Given the description of an element on the screen output the (x, y) to click on. 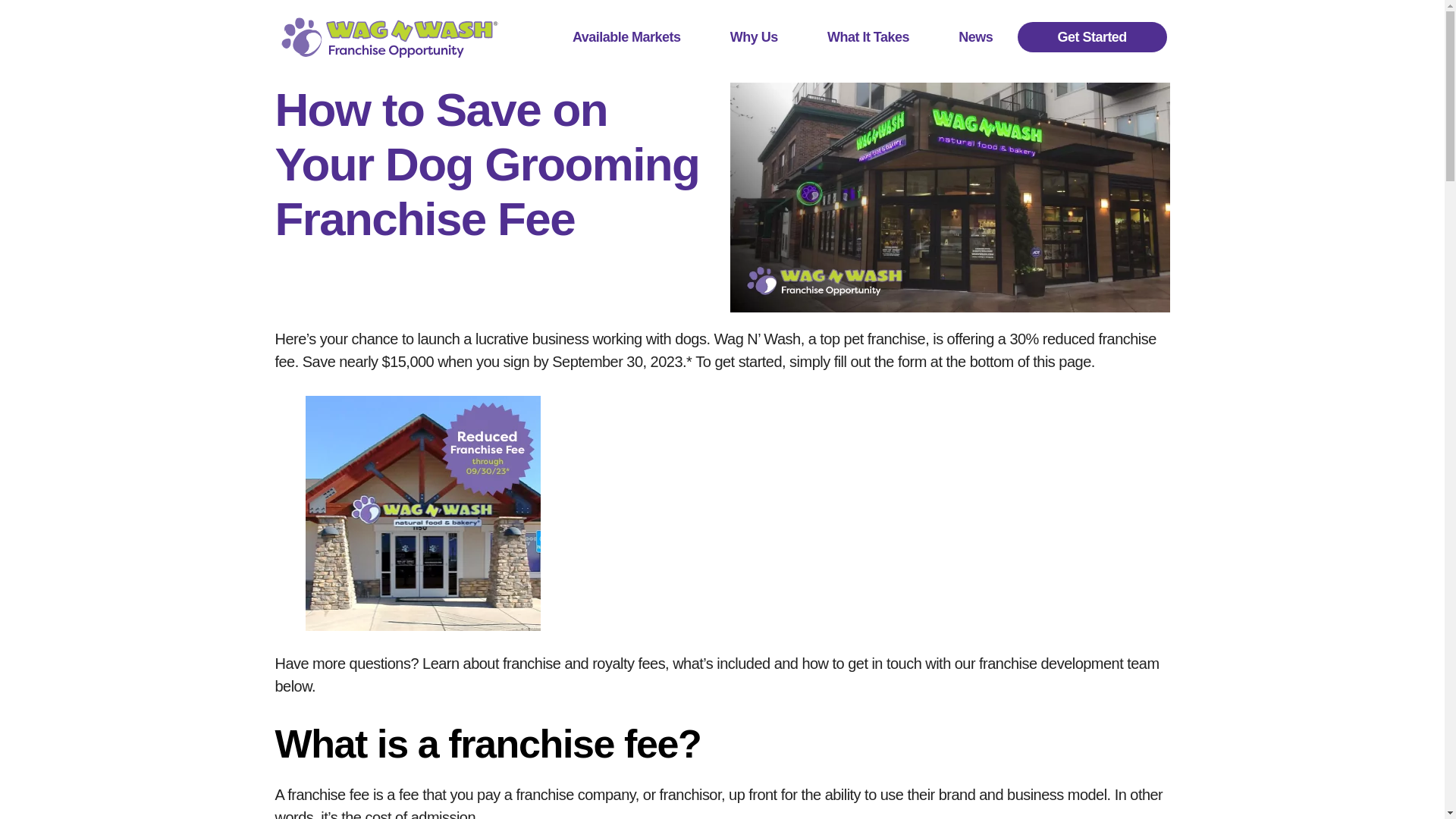
Why Us (753, 37)
News (975, 37)
What It Takes (867, 37)
Get Started (1092, 37)
Available Markets (625, 37)
